Given the description of an element on the screen output the (x, y) to click on. 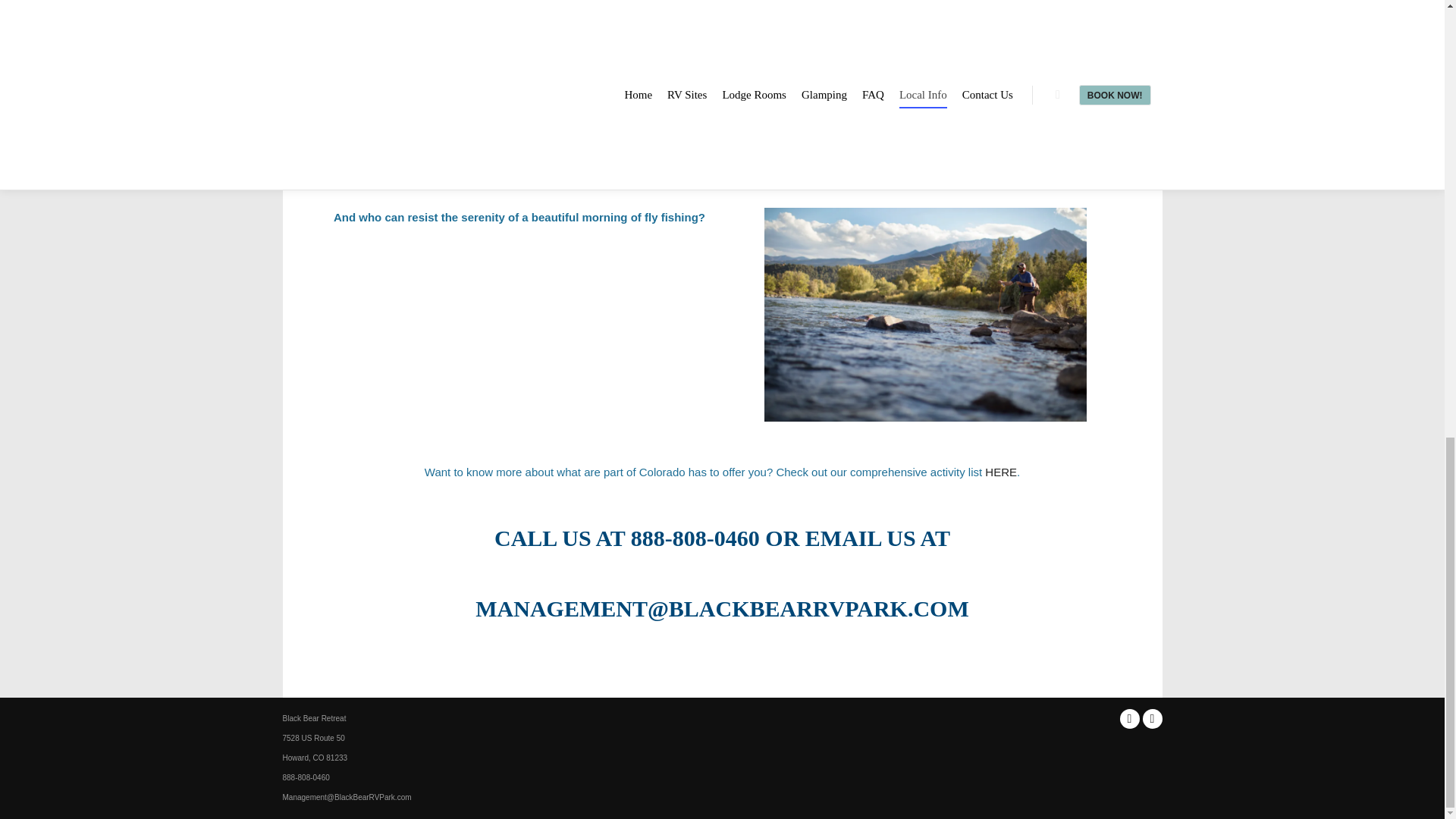
HERE (1000, 472)
Pinterest (1151, 718)
Facebook (1128, 718)
